Given the description of an element on the screen output the (x, y) to click on. 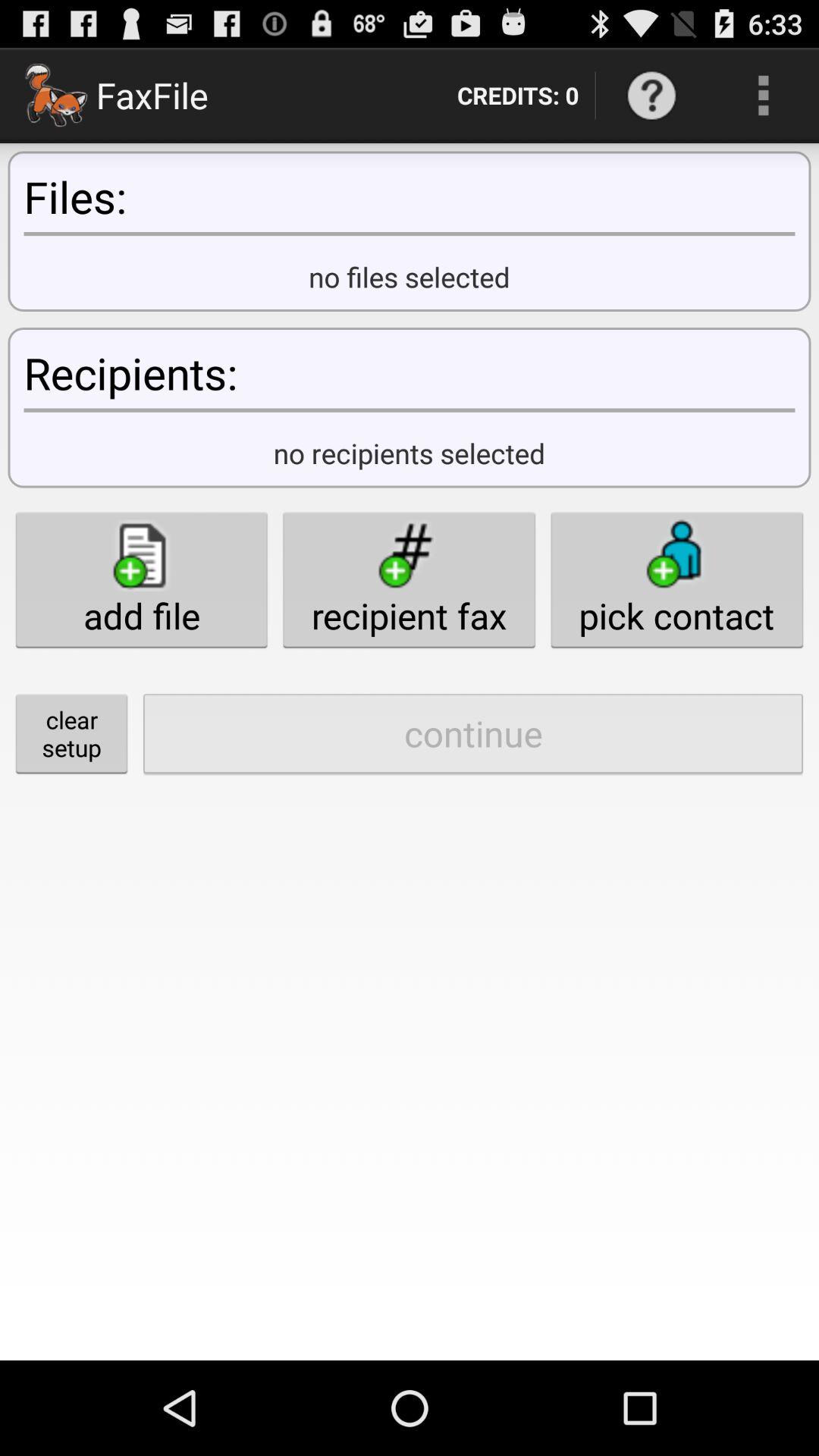
select credits: 0 (517, 95)
